Given the description of an element on the screen output the (x, y) to click on. 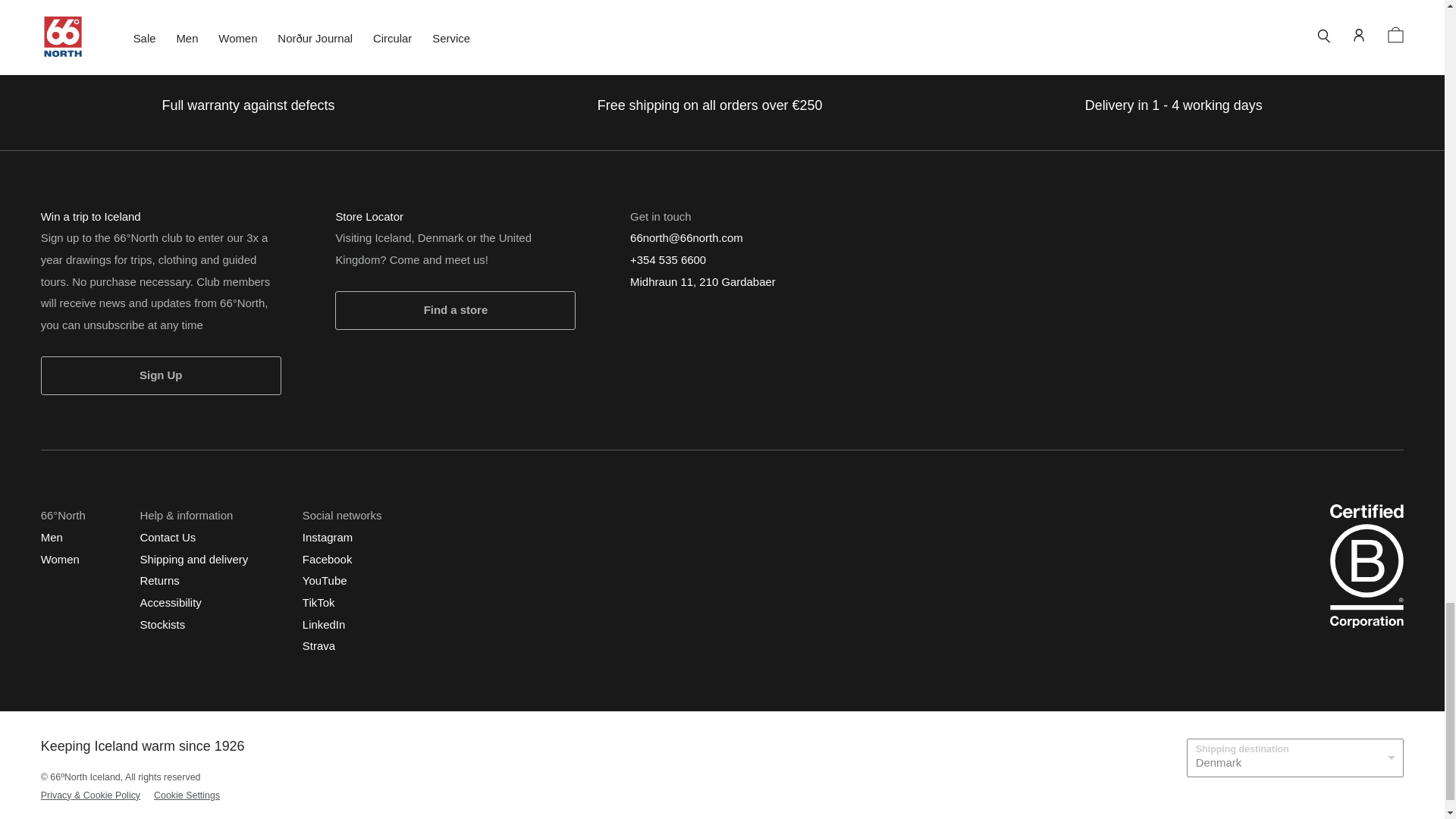
Contact Us (167, 536)
Facebook (327, 558)
Men (51, 536)
Women (60, 558)
Accessibility (169, 602)
Find a store (454, 310)
Stockists (161, 623)
Sign Up (160, 374)
Instagram (327, 536)
Returns (159, 580)
Shipping and delivery (193, 558)
YouTube (324, 580)
